Given the description of an element on the screen output the (x, y) to click on. 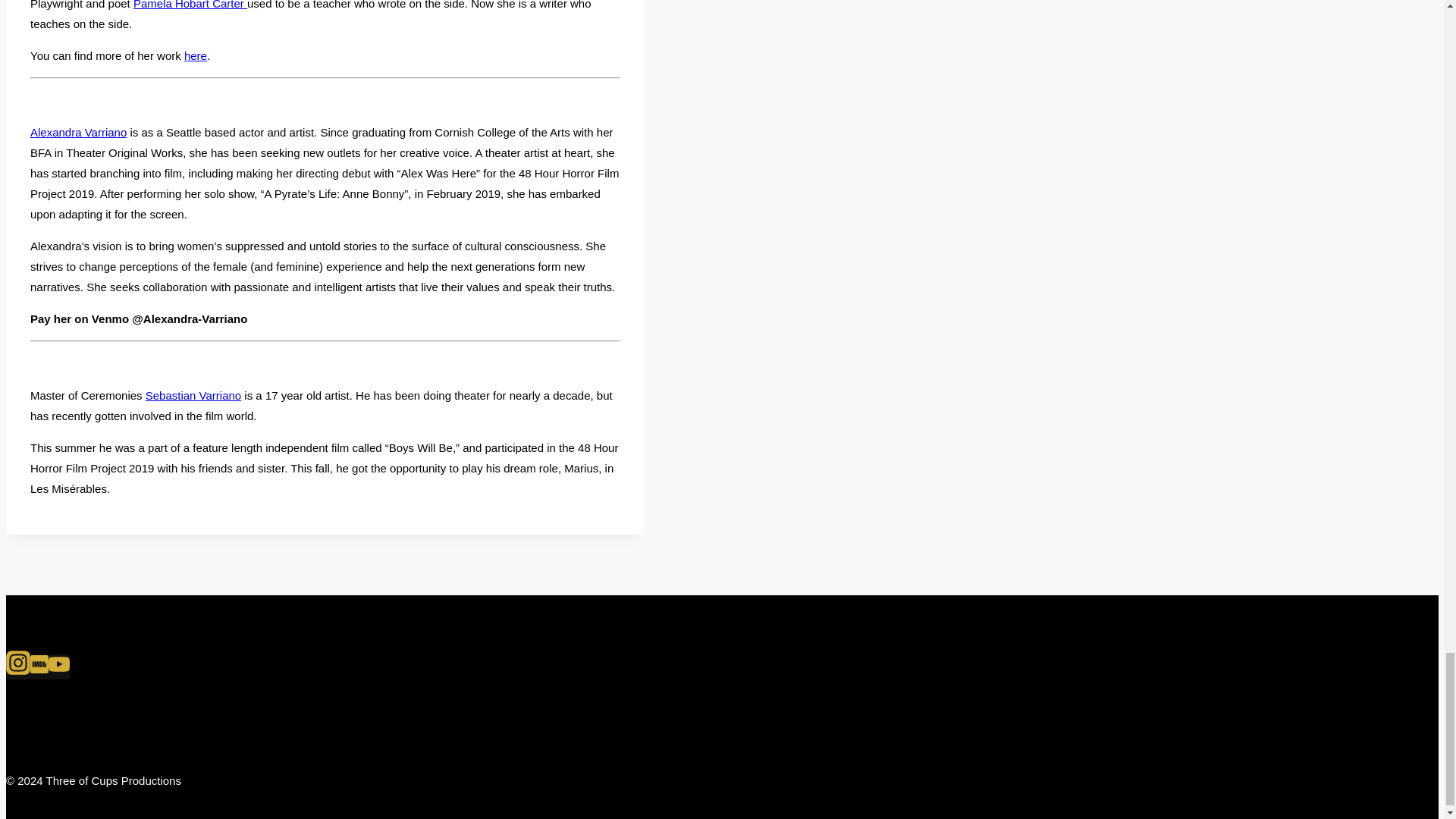
YouTube (58, 666)
Instagram (17, 662)
Pamela (152, 4)
Sebastian Varriano (193, 395)
IMDB (39, 663)
IMDB (39, 666)
Instagram (17, 666)
here (195, 55)
YouTube (58, 663)
 Hobart Carter  (209, 4)
Alexandra Varriano (78, 132)
